Given the description of an element on the screen output the (x, y) to click on. 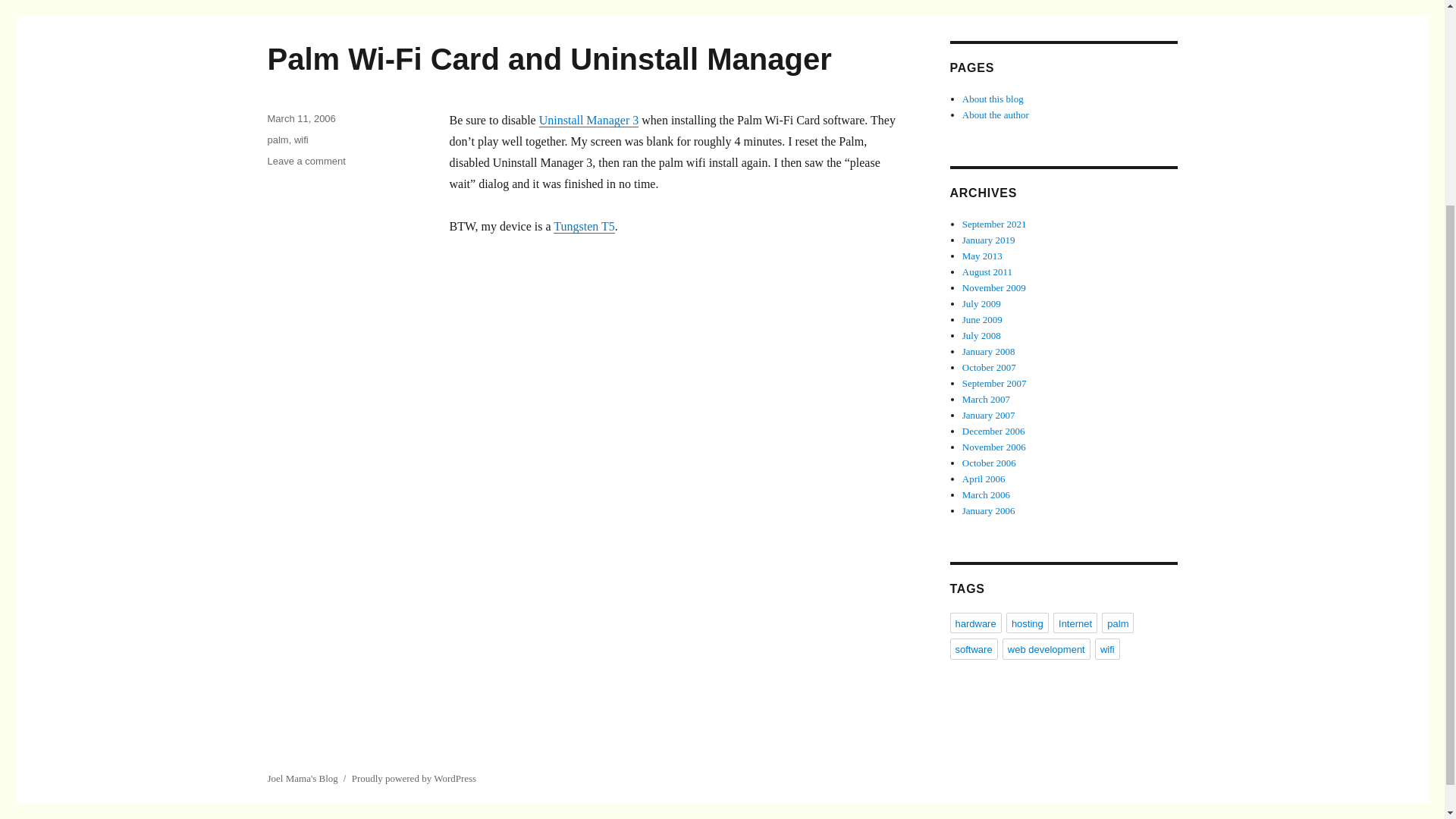
April 2006 (984, 478)
About the author (995, 114)
March 2006 (986, 494)
September 2007 (994, 383)
August 2011 (986, 271)
About this blog (992, 98)
palm (277, 139)
June 2009 (982, 319)
November 2009 (994, 287)
October 2006 (989, 462)
December 2006 (993, 430)
Joel Mama's Blog (301, 778)
January 2008 (988, 351)
January 2006 (988, 510)
March 2007 (986, 398)
